Given the description of an element on the screen output the (x, y) to click on. 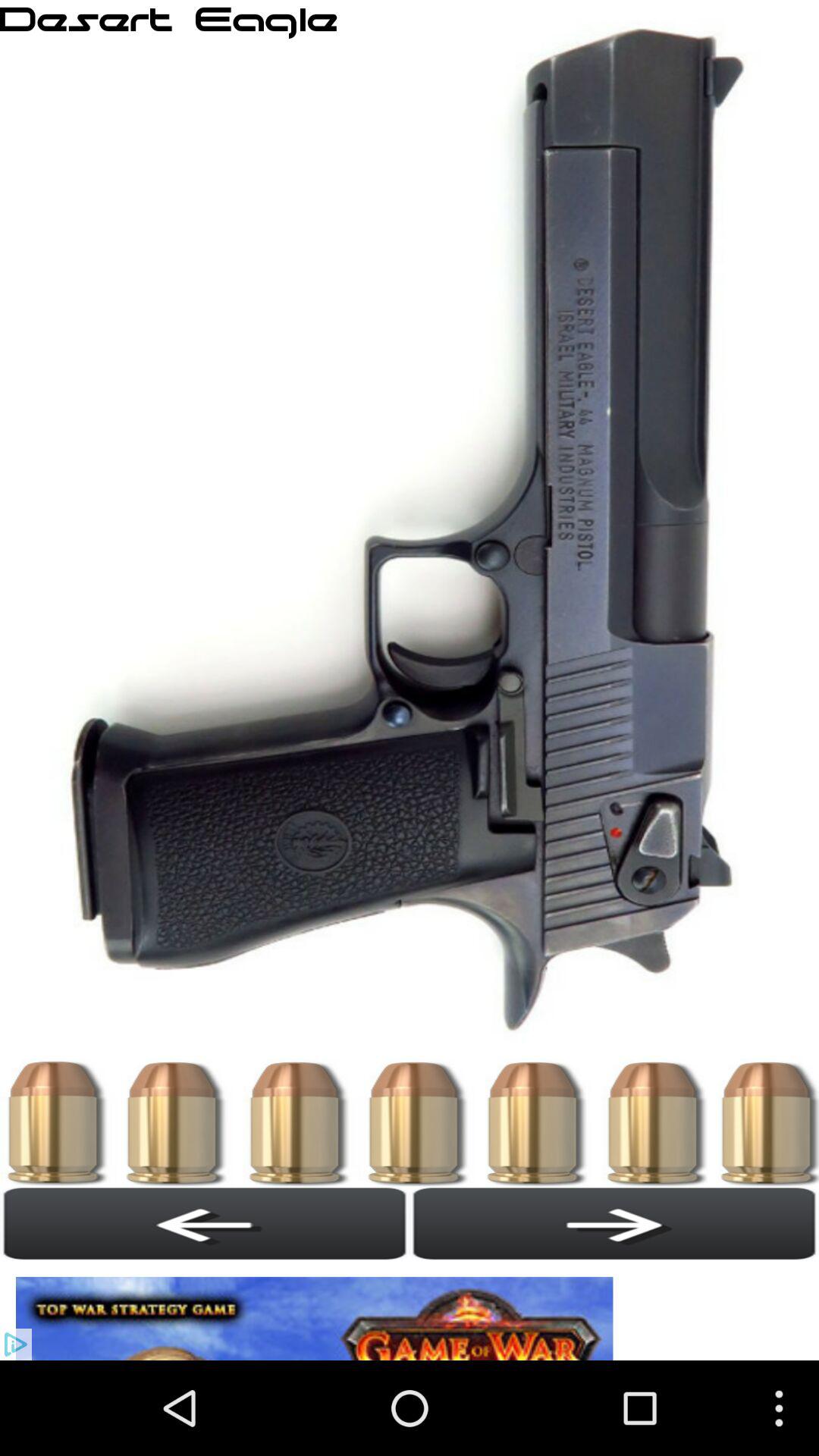
advertisements image (318, 1310)
